Given the description of an element on the screen output the (x, y) to click on. 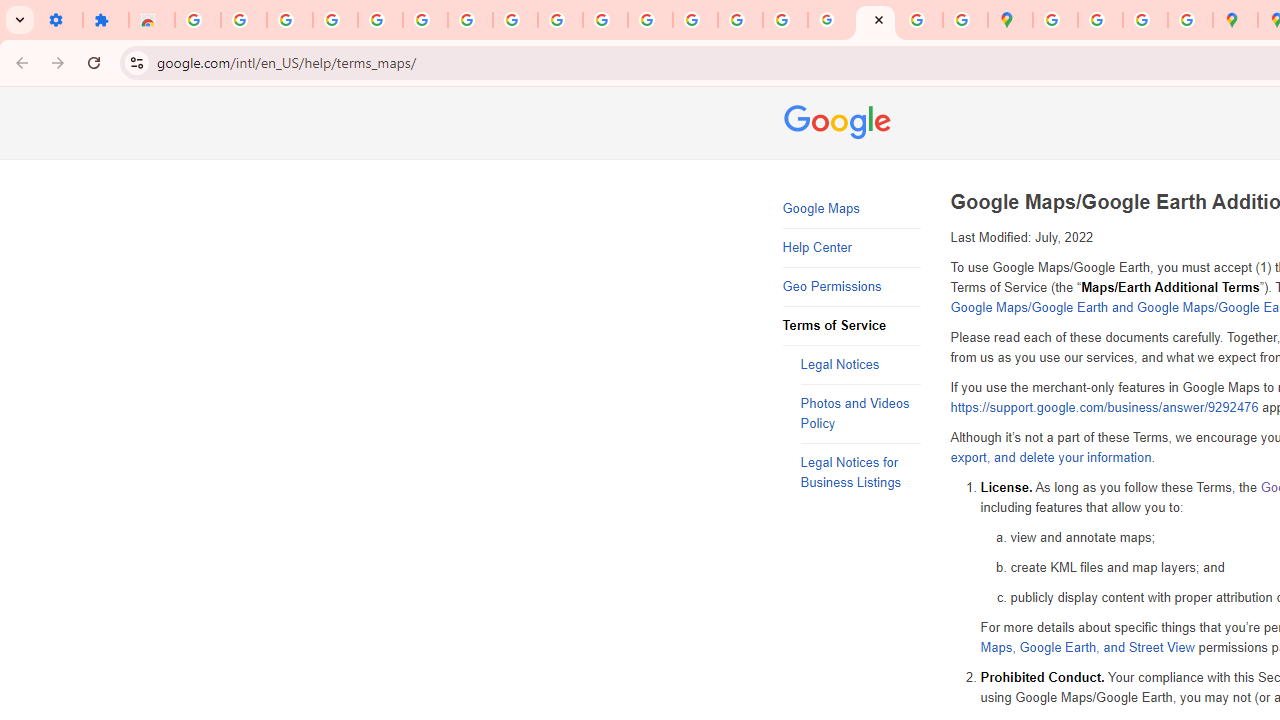
YouTube (559, 20)
Geo Permissions (851, 286)
Delete photos & videos - Computer - Google Photos Help (290, 20)
